Given the description of an element on the screen output the (x, y) to click on. 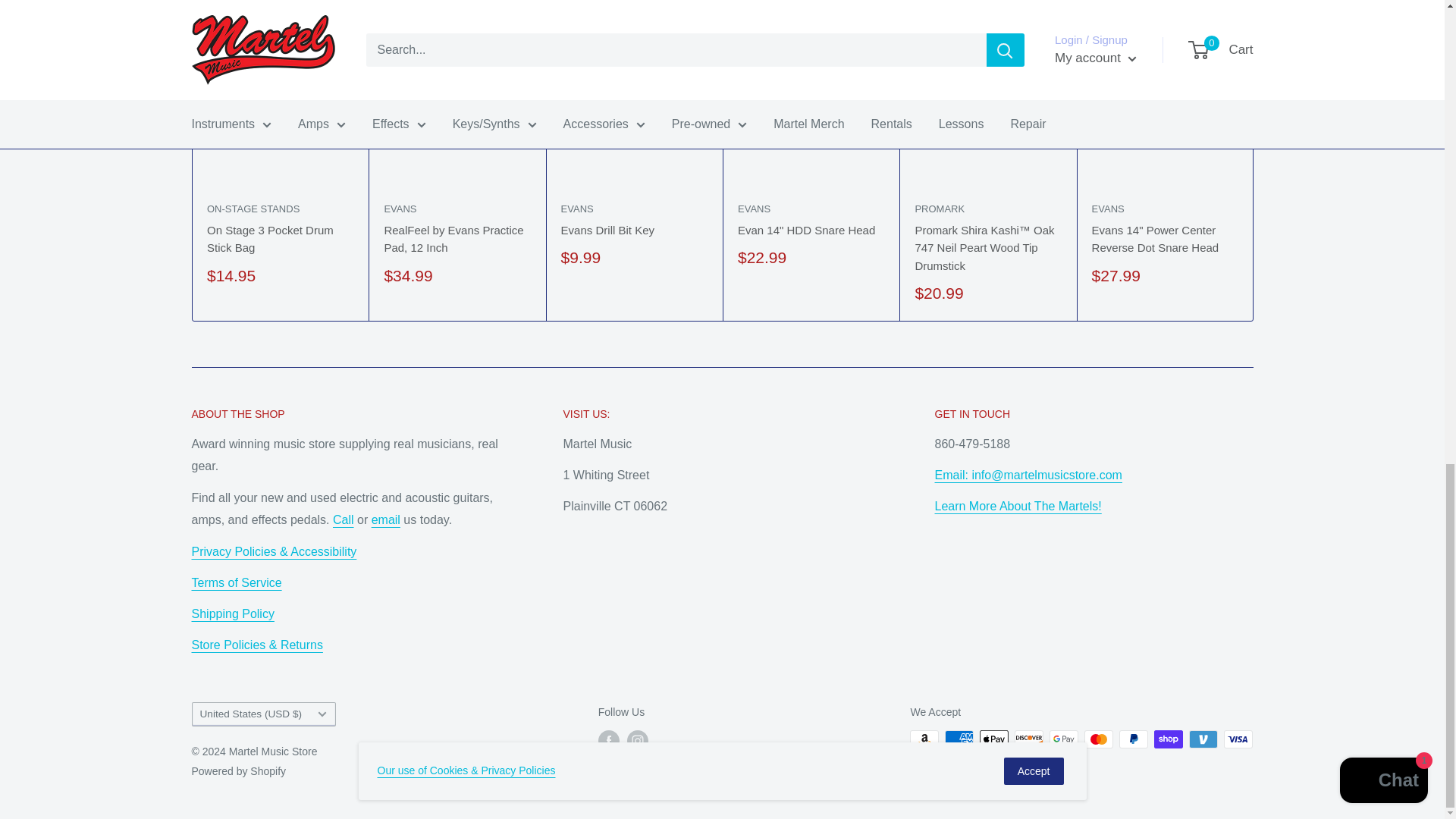
About Us (255, 644)
Shipping Policy (231, 613)
Privacy Policy (273, 550)
Terms of Service (235, 582)
